Given the description of an element on the screen output the (x, y) to click on. 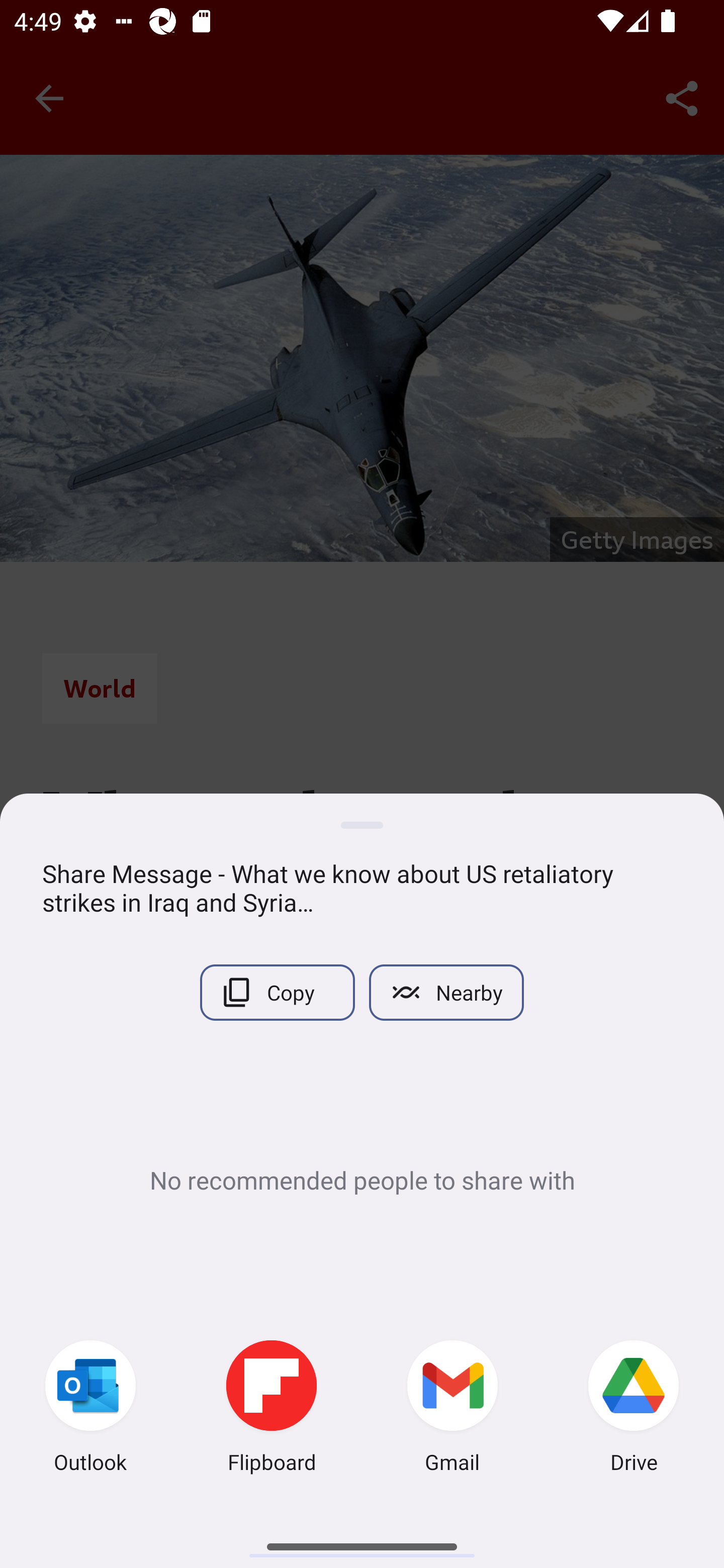
Copy (276, 992)
Nearby (446, 992)
Outlook (90, 1409)
Flipboard (271, 1409)
Gmail (452, 1409)
Drive (633, 1409)
